Given the description of an element on the screen output the (x, y) to click on. 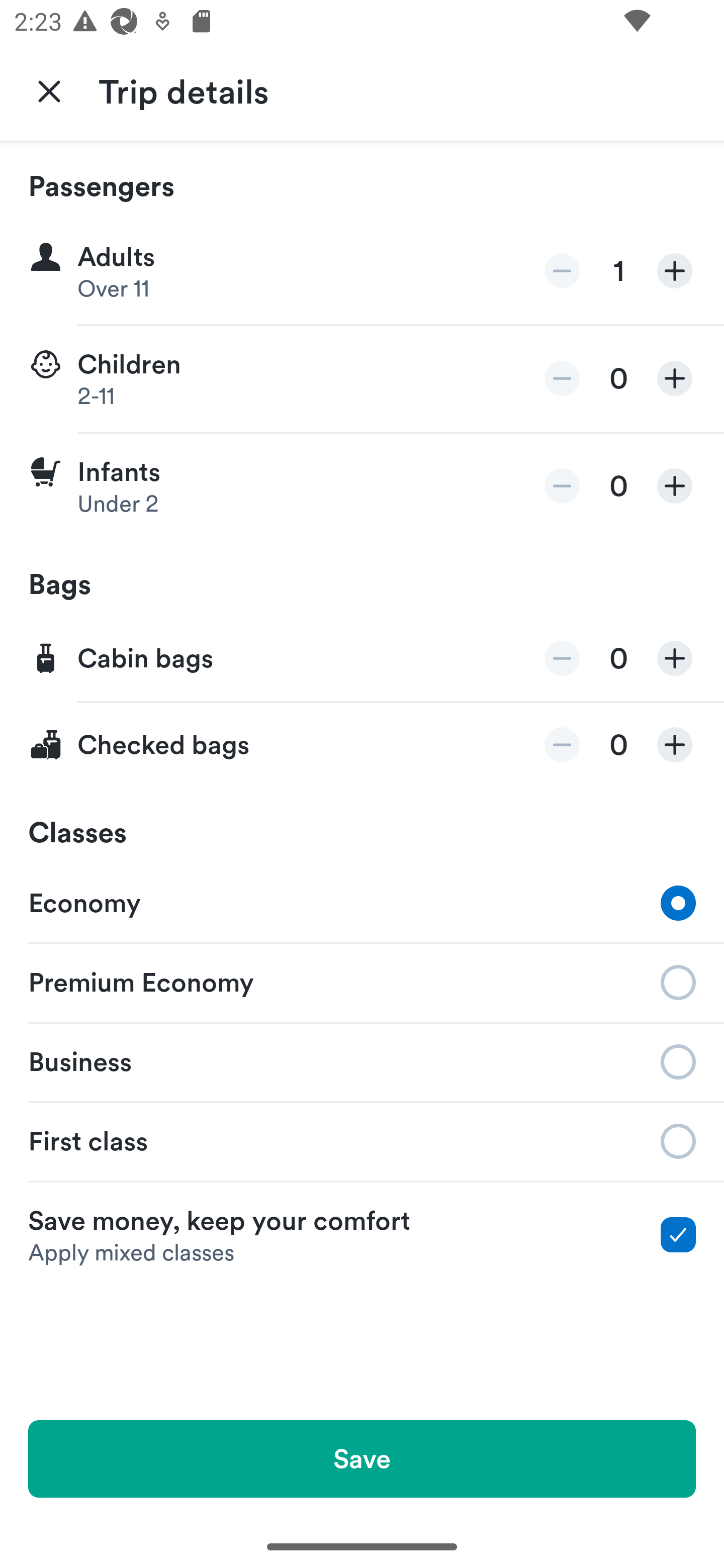
Navigate up (49, 90)
Remove 1 Add Adults Over 11 (362, 271)
Remove (561, 270)
Add (674, 270)
Remove 0 Add Children 2-11 (362, 379)
Remove (561, 377)
Add (674, 377)
Remove 0 Add Infants Under 2 (362, 485)
Remove (561, 485)
Add (674, 485)
Remove 0 Add Cabin bags (362, 659)
Remove (561, 658)
Add (674, 658)
Remove 0 Add Checked bags (362, 744)
Remove (561, 744)
Add (674, 744)
Premium Economy (362, 980)
Business (362, 1060)
First class (362, 1141)
Save (361, 1458)
